Given the description of an element on the screen output the (x, y) to click on. 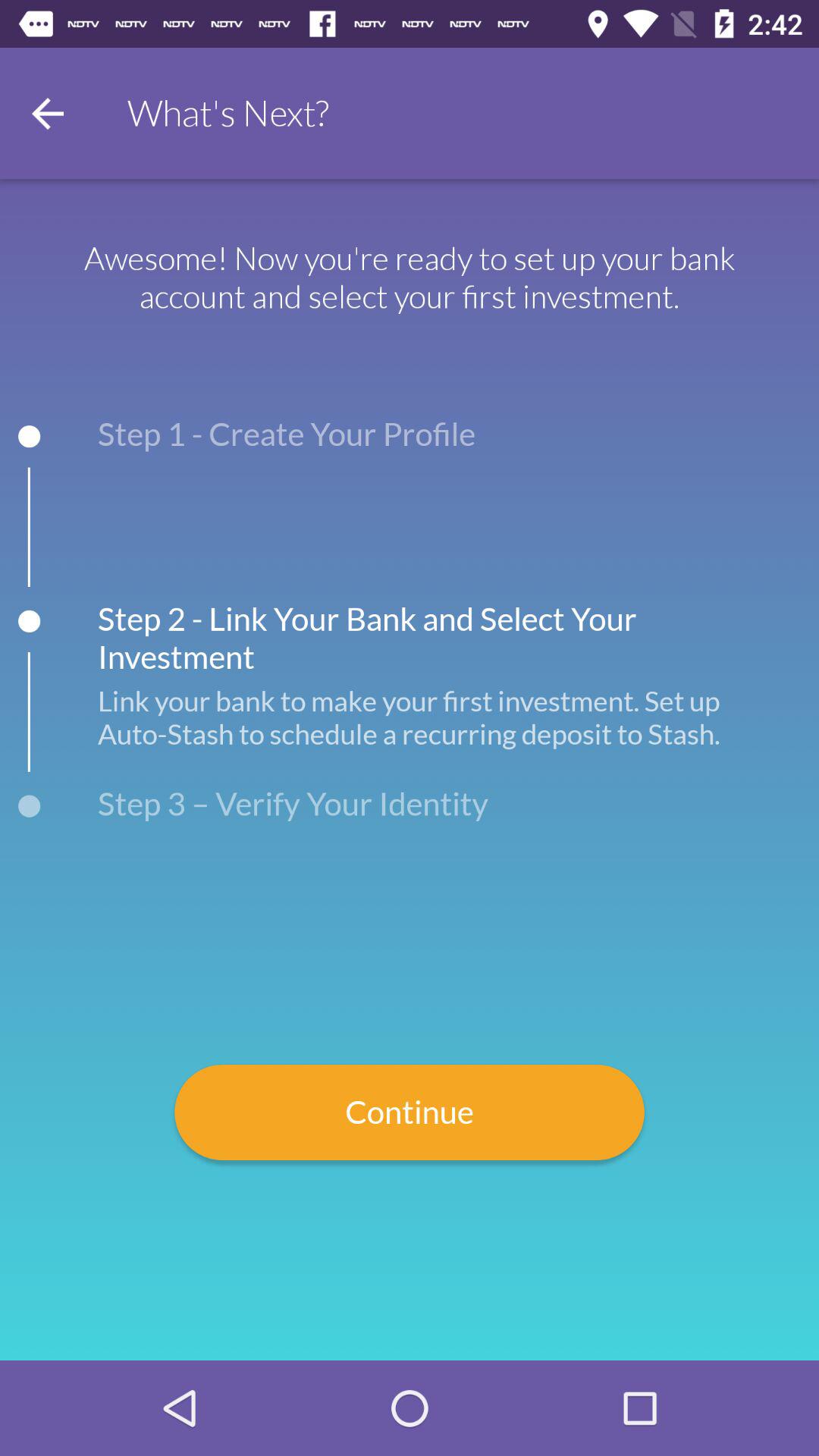
choose continue icon (409, 1112)
